Given the description of an element on the screen output the (x, y) to click on. 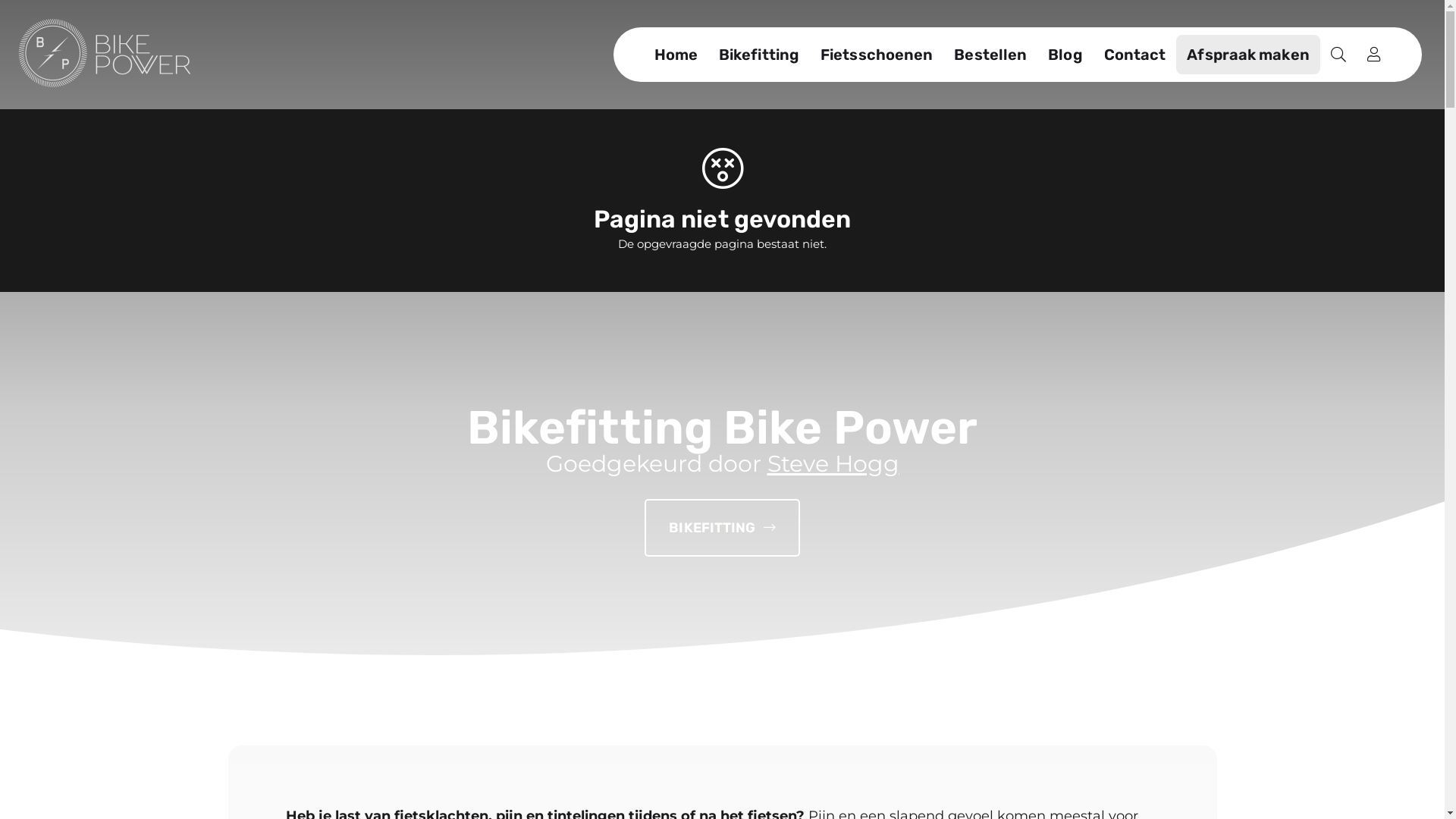
Bikefitting Bike Power Element type: hover (104, 54)
BIKEFITTING Element type: text (721, 527)
Blog Element type: text (1064, 54)
Afspraak maken Element type: text (1247, 54)
Bestellen Element type: text (990, 54)
Bikefitting Element type: text (758, 54)
Home Element type: text (675, 54)
Steve Hogg Element type: text (833, 463)
Bikefitting Bike Power Element type: hover (104, 53)
Fietsschoenen Element type: text (876, 54)
Contact Element type: text (1134, 54)
